Given the description of an element on the screen output the (x, y) to click on. 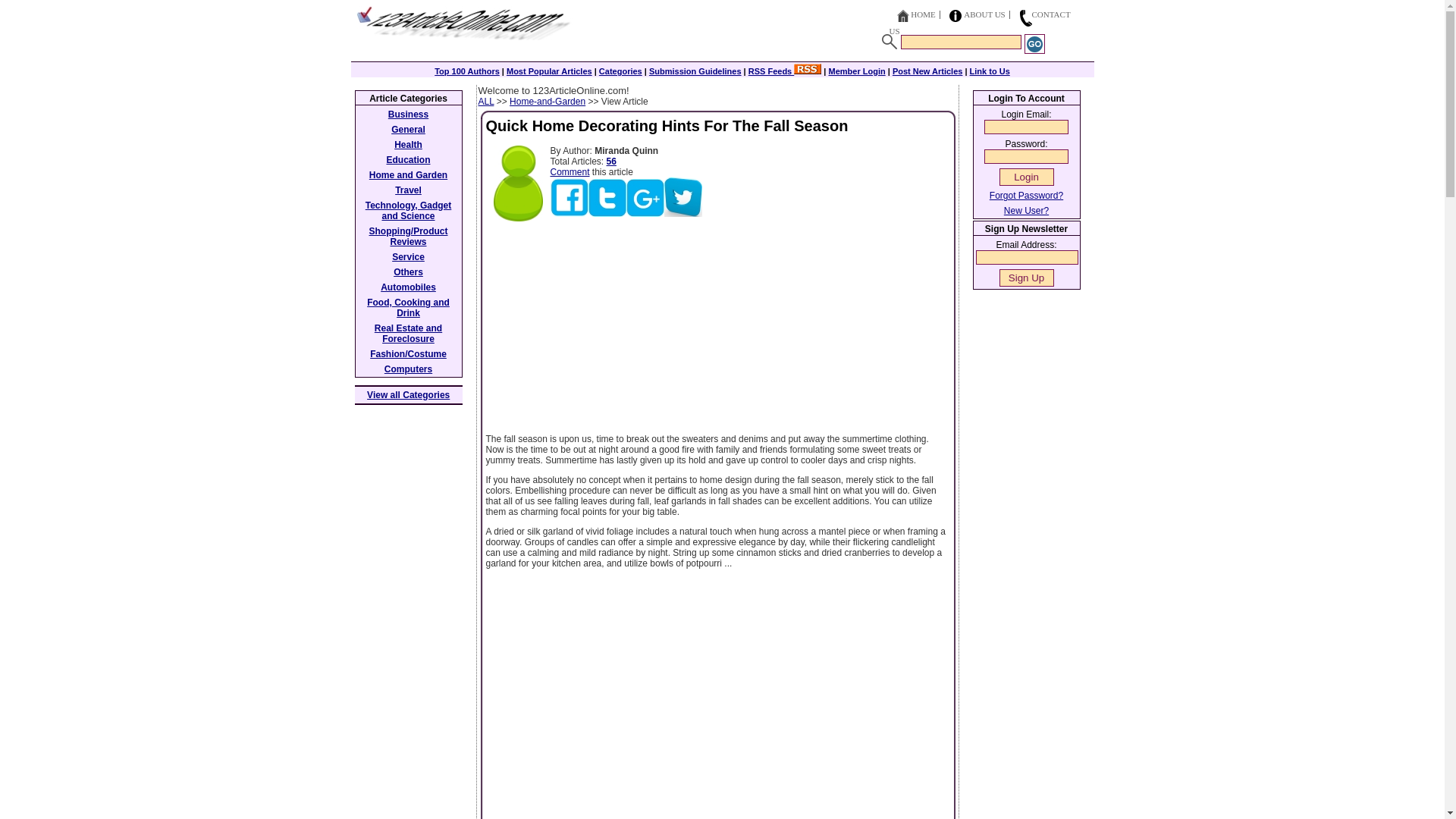
Top 100 Authors (466, 71)
56 (611, 161)
ALL (485, 101)
Home-and-Garden (547, 101)
Categories (620, 71)
Most Popular Articles (549, 71)
Submission Guidelines (695, 71)
Comment (569, 172)
